Given the description of an element on the screen output the (x, y) to click on. 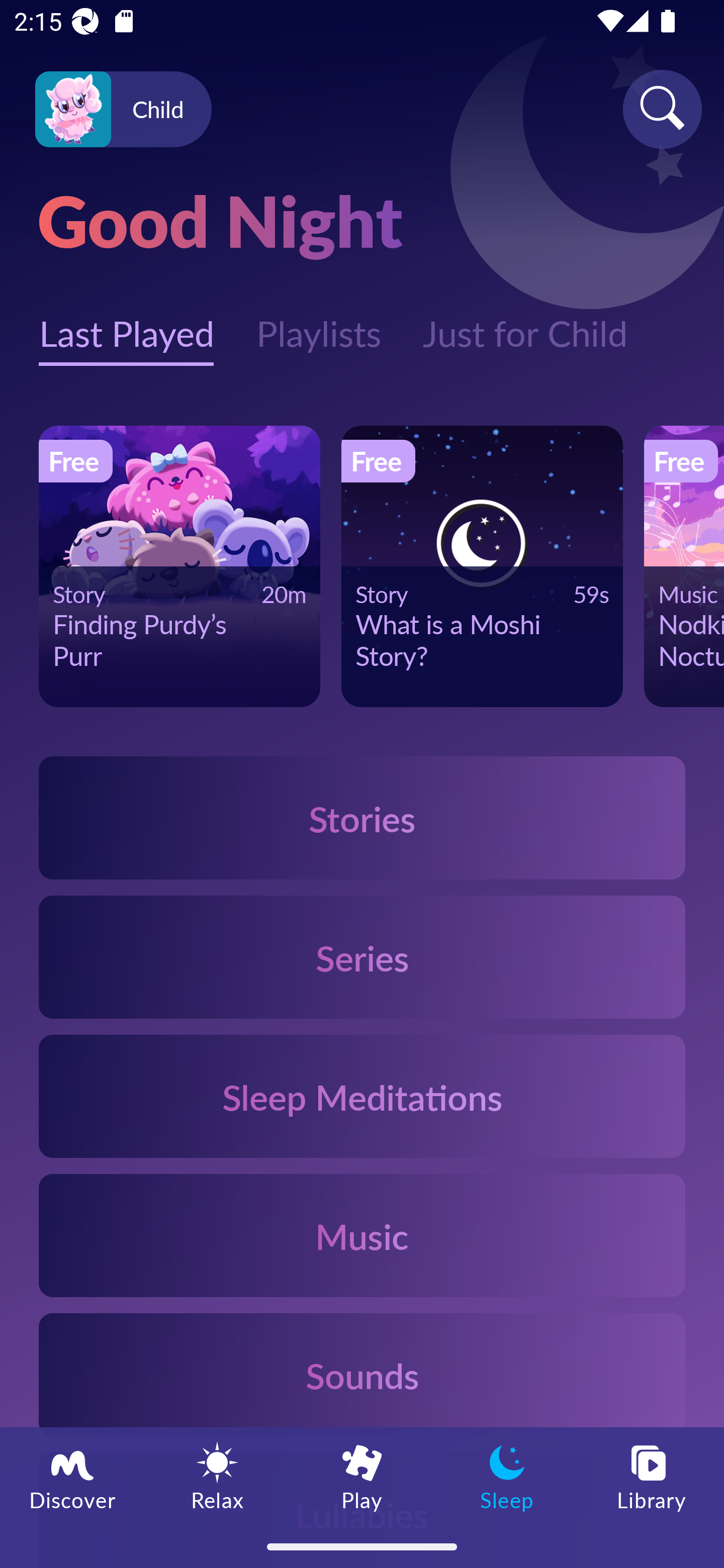
Profile icon Child (123, 109)
Playlists (317, 322)
Just for Child (524, 322)
Stories (361, 817)
Series (361, 957)
Sleep Meditations (361, 1096)
Music (361, 1234)
Sounds (361, 1374)
Discover (72, 1475)
Relax (216, 1475)
Play (361, 1475)
Library (651, 1475)
